Given the description of an element on the screen output the (x, y) to click on. 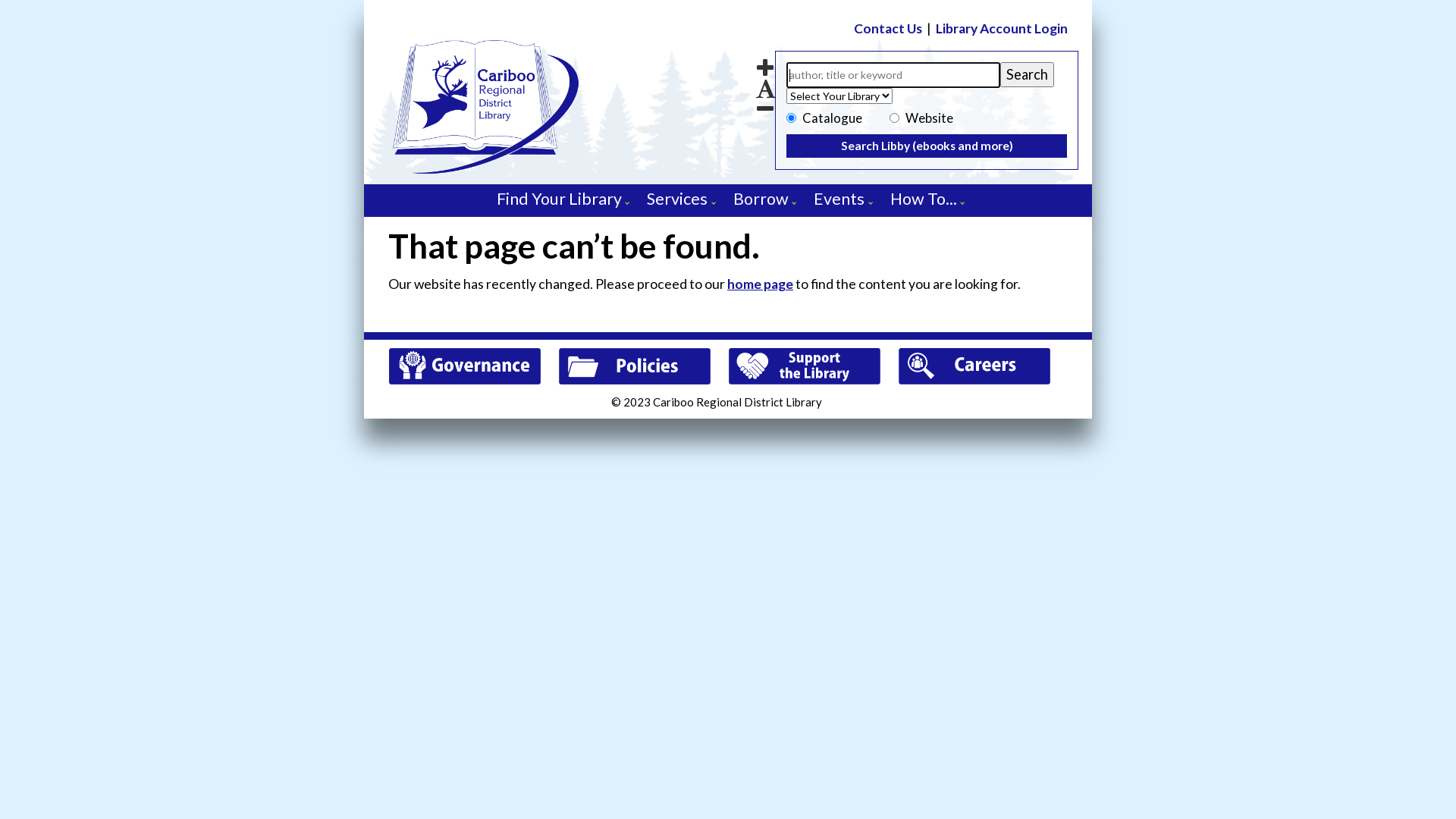
Cariboo Regional District Library Element type: text (561, 206)
Library Account Login Element type: text (1001, 28)
Search Element type: text (1027, 74)
Contact Us Element type: text (887, 28)
Increase font size Element type: hover (765, 66)
home page Element type: text (760, 283)
Default font size Element type: hover (765, 87)
Decrease font size Element type: hover (765, 107)
Search Libby (ebooks and more) Element type: text (926, 145)
